Given the description of an element on the screen output the (x, y) to click on. 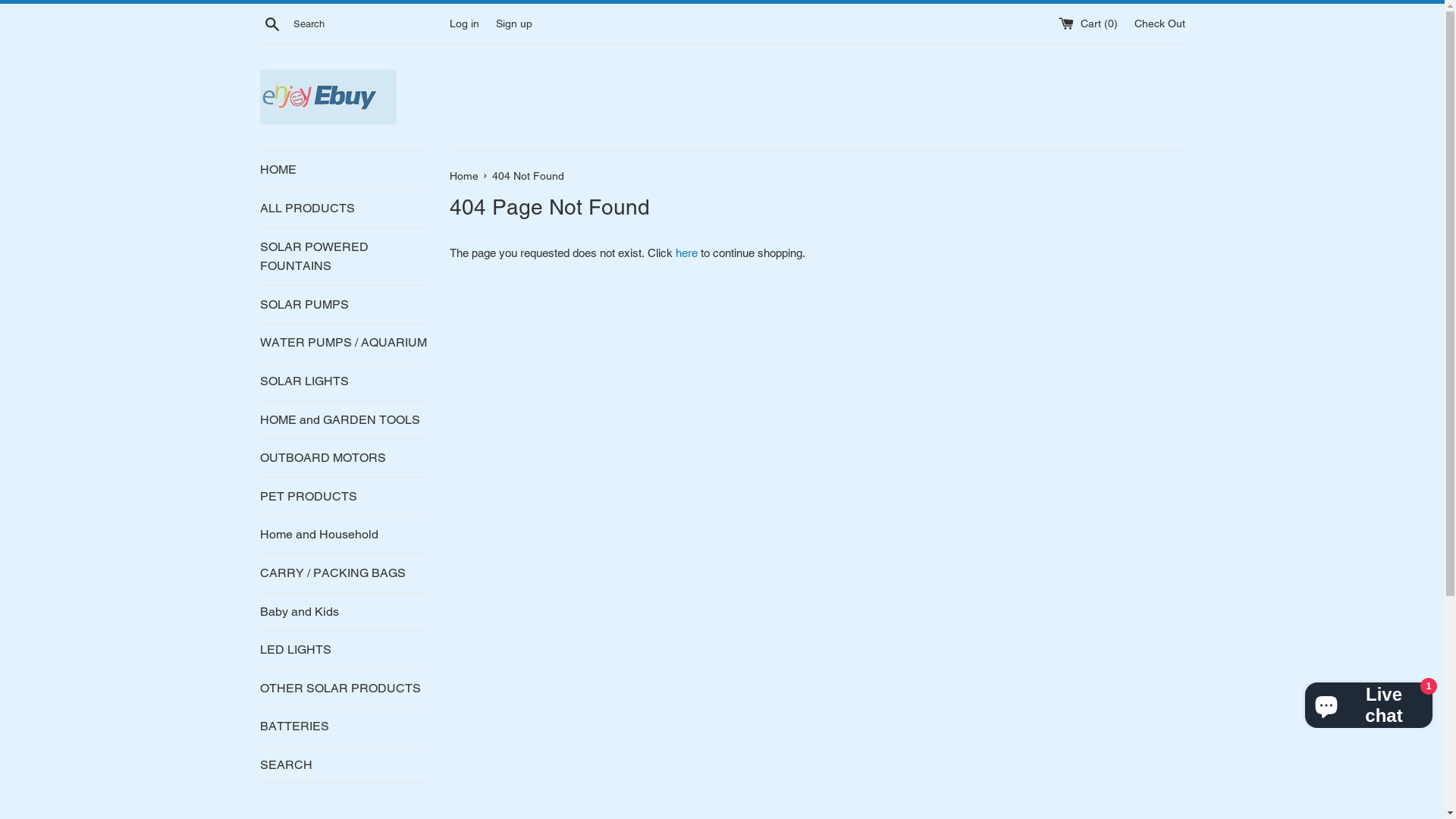
OTHER SOLAR PRODUCTS Element type: text (342, 688)
Search Element type: text (271, 23)
Baby and Kids Element type: text (342, 611)
SOLAR PUMPS Element type: text (342, 304)
HOME Element type: text (342, 169)
Cart (0) Element type: text (1089, 22)
WATER PUMPS / AQUARIUM Element type: text (342, 342)
SOLAR LIGHTS Element type: text (342, 381)
SEARCH Element type: text (342, 765)
Shopify online store chat Element type: hover (1368, 702)
Log in Element type: text (463, 22)
Check Out Element type: text (1159, 22)
SOLAR POWERED FOUNTAINS Element type: text (342, 256)
Home and Household Element type: text (342, 534)
here Element type: text (685, 252)
LED LIGHTS Element type: text (342, 649)
ALL PRODUCTS Element type: text (342, 208)
HOME and GARDEN TOOLS Element type: text (342, 420)
PET PRODUCTS Element type: text (342, 496)
CARRY / PACKING BAGS Element type: text (342, 573)
BATTERIES Element type: text (342, 726)
Home Element type: text (464, 175)
Sign up Element type: text (513, 22)
OUTBOARD MOTORS Element type: text (342, 457)
